Given the description of an element on the screen output the (x, y) to click on. 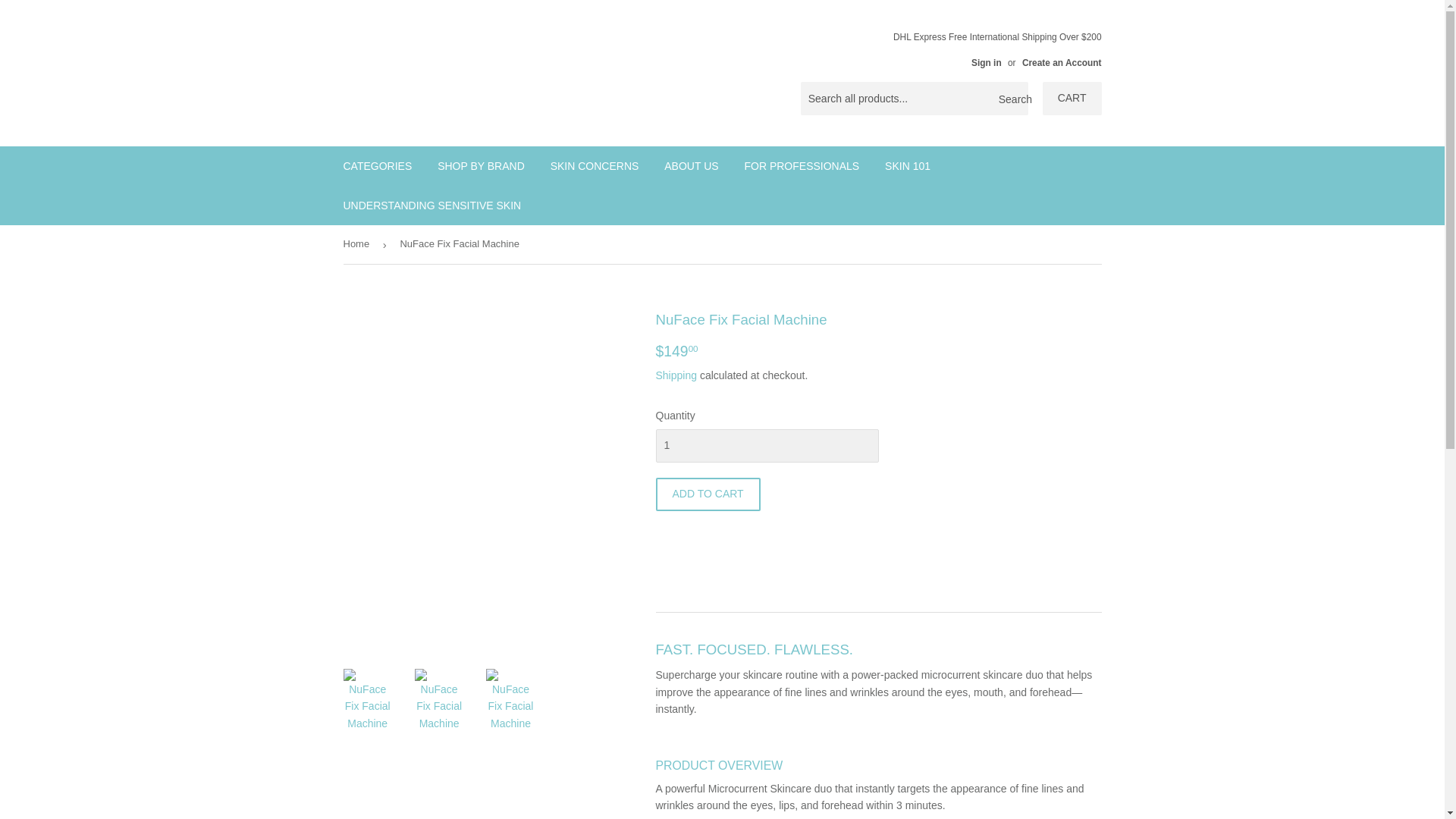
Search (1010, 99)
CART (1072, 98)
Create an Account (1062, 62)
1 (766, 445)
Sign in (986, 62)
